Given the description of an element on the screen output the (x, y) to click on. 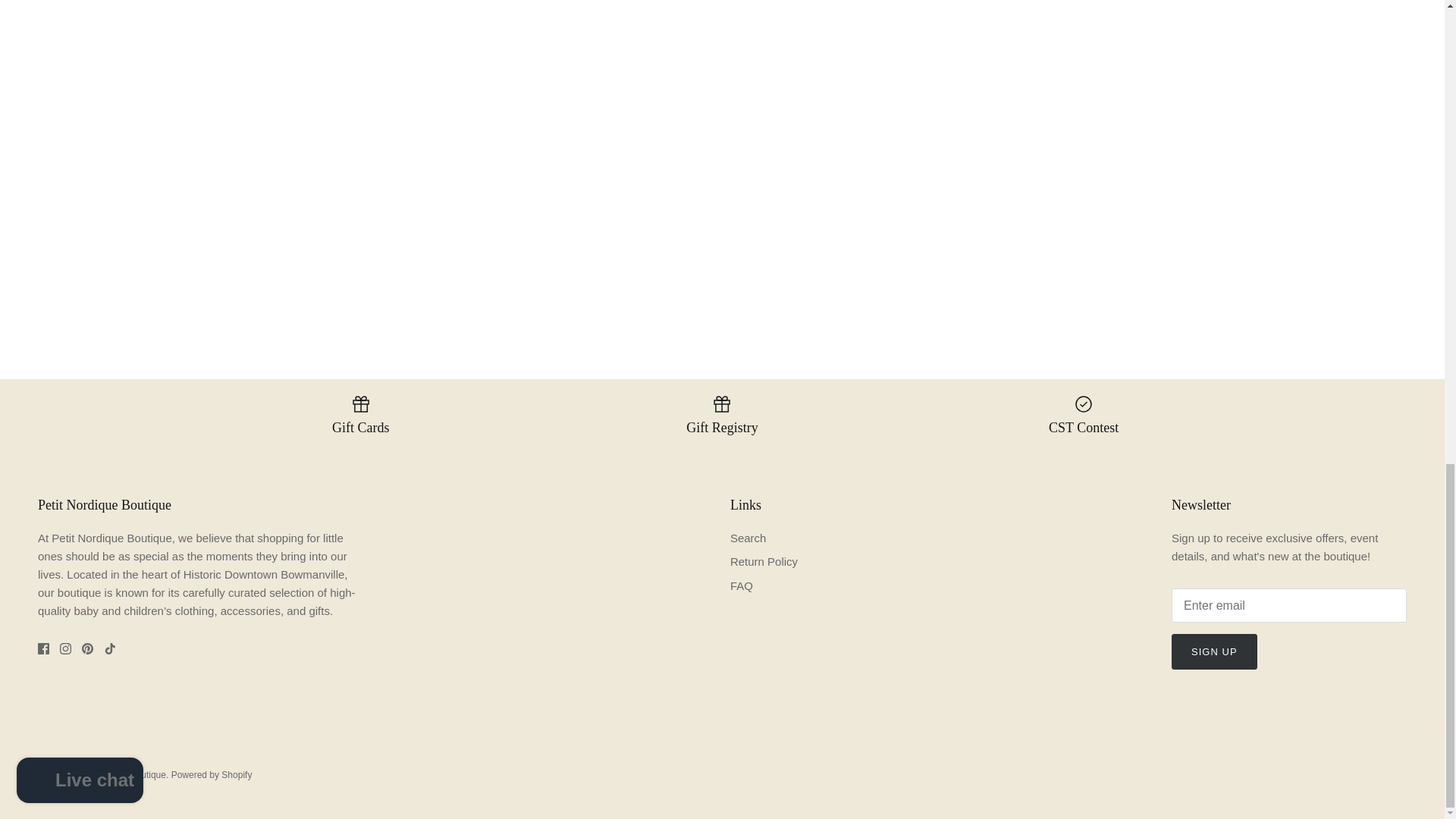
Facebook (43, 648)
Pinterest (87, 648)
Instagram (65, 648)
